Given the description of an element on the screen output the (x, y) to click on. 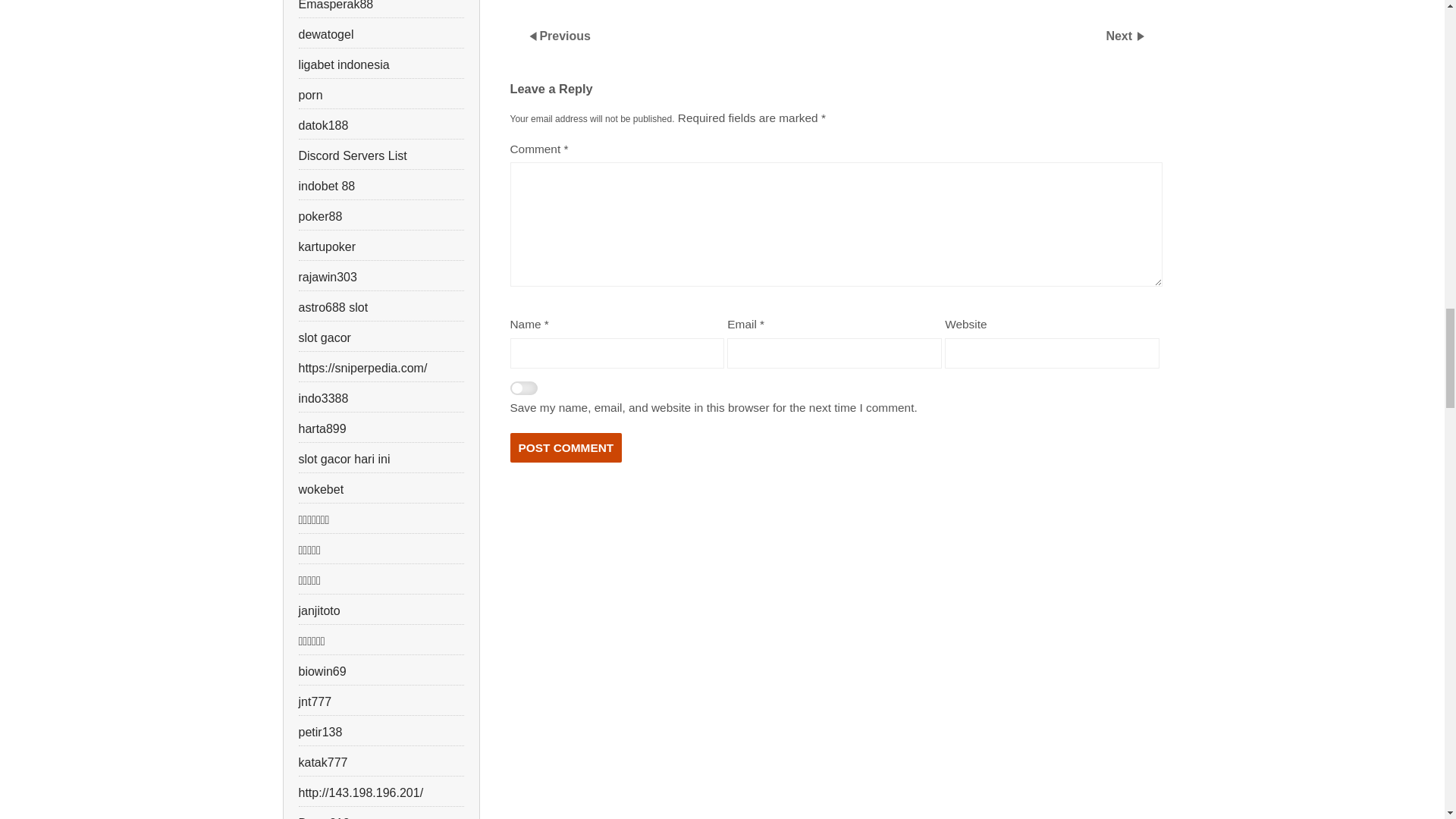
Next (1120, 35)
yes (523, 389)
Post Comment (565, 448)
Post Comment (565, 448)
Previous (564, 35)
